Given the description of an element on the screen output the (x, y) to click on. 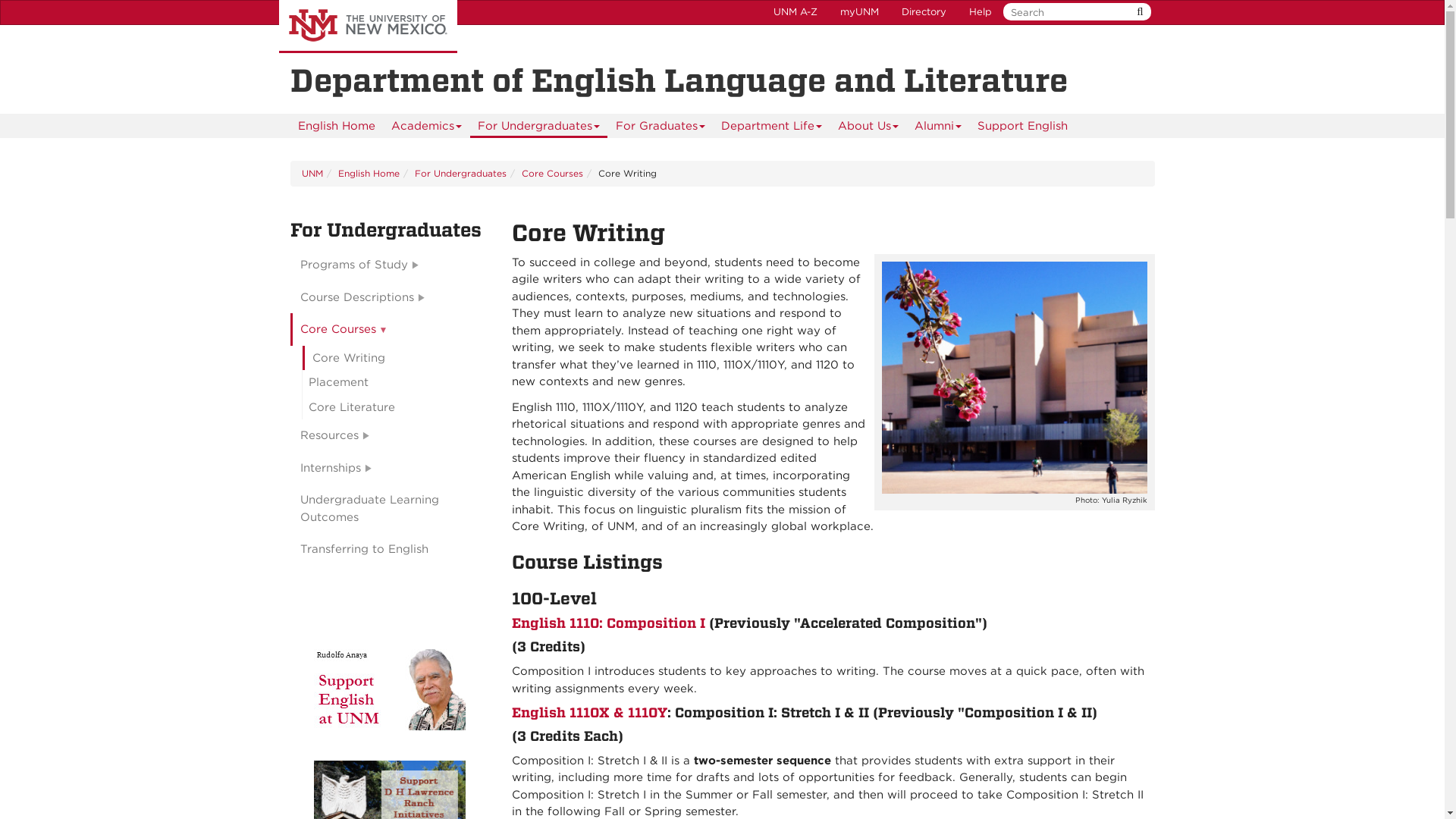
input search query here (1073, 12)
English Home (335, 125)
Academics  (426, 125)
Directory (923, 11)
myUNM (858, 11)
For Undergraduates  (538, 125)
Help (980, 11)
myUNM (858, 11)
Directory (923, 11)
UNM A-Z (794, 11)
